Given the description of an element on the screen output the (x, y) to click on. 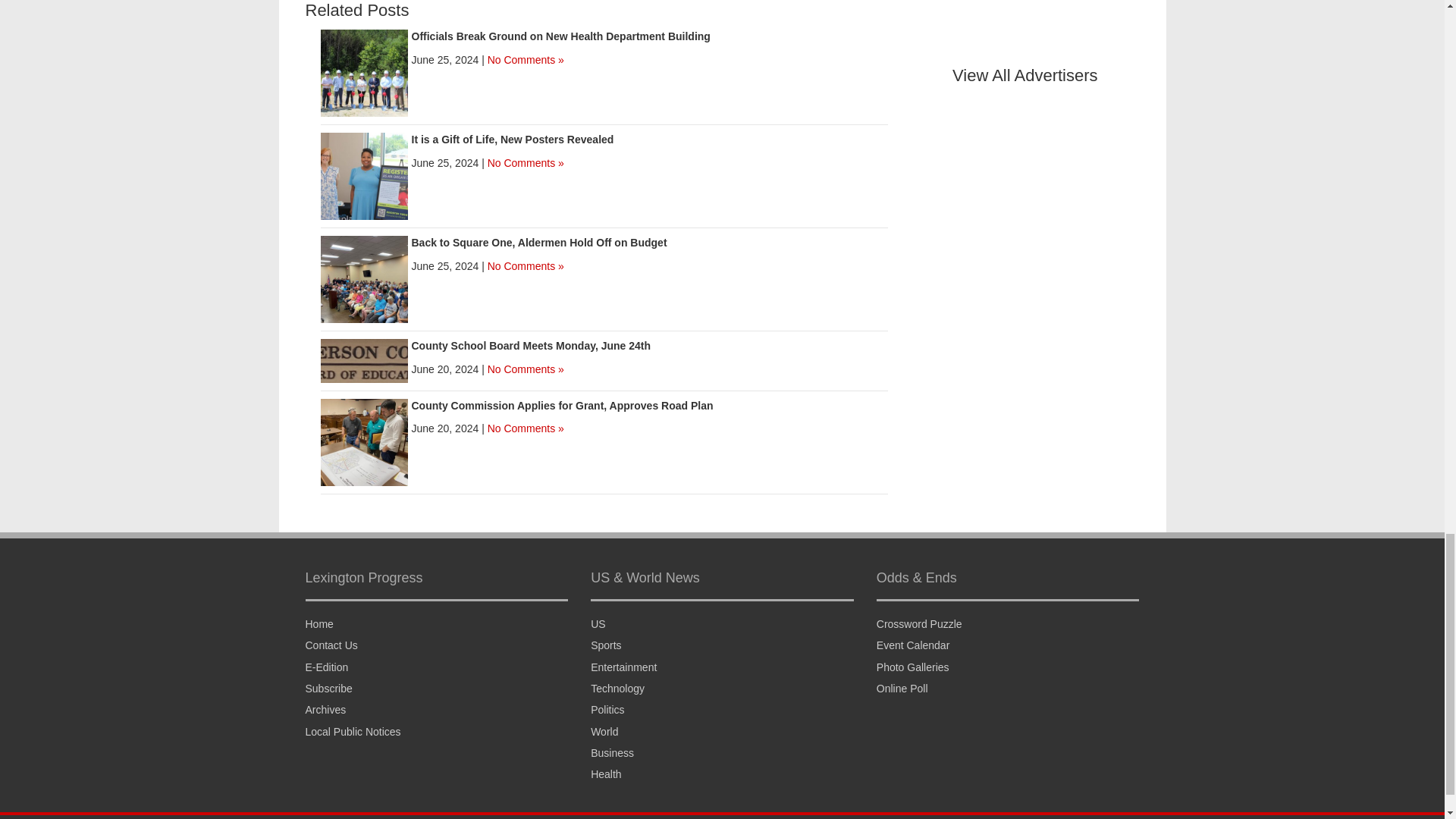
Officials Break Ground on New Health Department Building (560, 36)
Officials Break Ground on New Health Department Building (560, 36)
County Commission Applies for Grant, Approves Road Plan (363, 440)
Back to Square One, Aldermen Hold Off on Budget (538, 242)
Back to Square One, Aldermen Hold Off on Budget (363, 278)
It is a Gift of Life, New Posters Revealed (363, 175)
County School Board Meets Monday, June 24th (530, 345)
It is a Gift of Life, New Posters Revealed (511, 139)
Officials Break Ground on New Health Department Building (363, 72)
County Commission Applies for Grant, Approves Road Plan (561, 405)
County School Board Meets Monday, June 24th (363, 359)
